Given the description of an element on the screen output the (x, y) to click on. 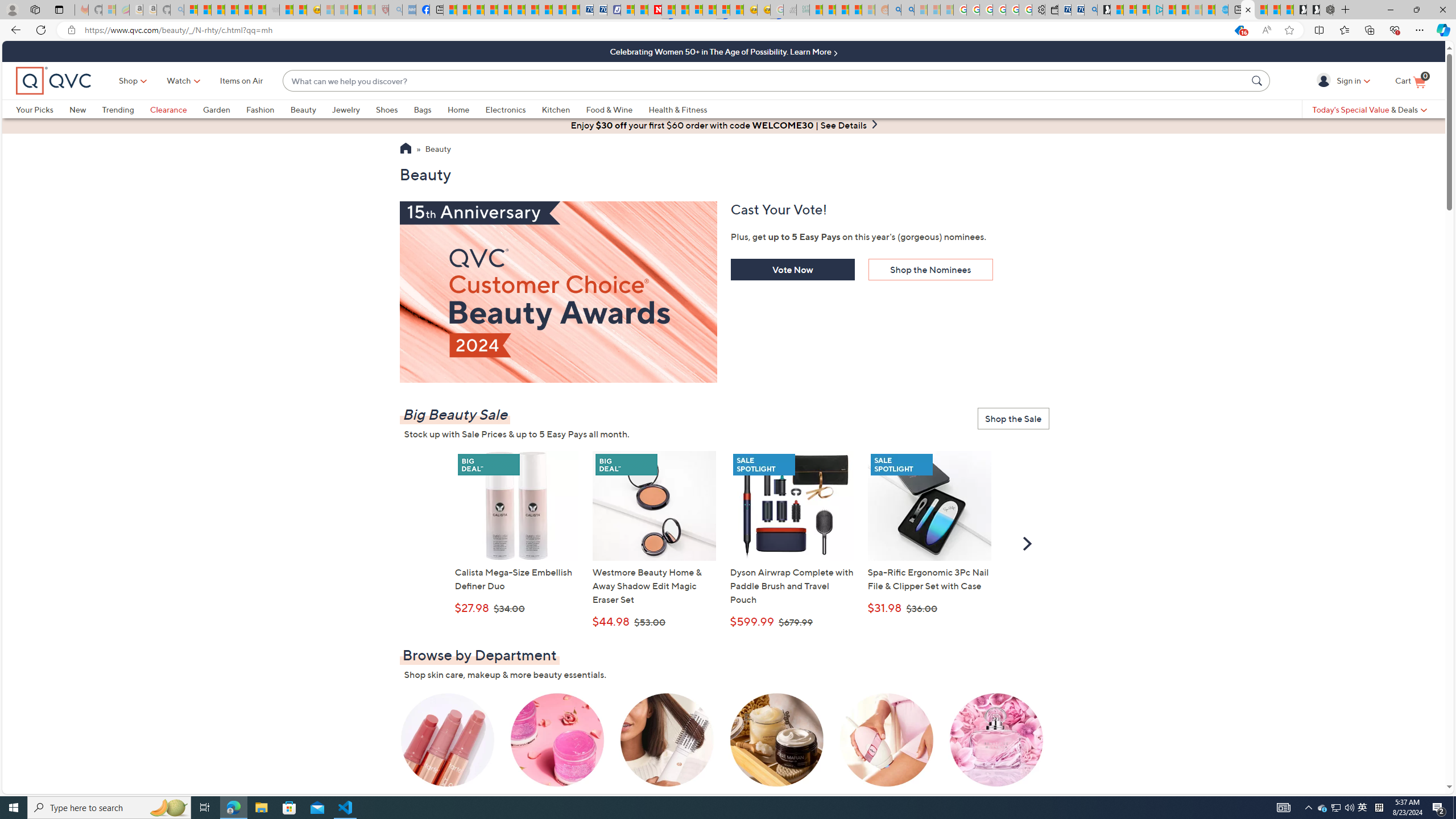
QVC home (53, 80)
Search Submit (1258, 80)
Microsoft account | Privacy (1142, 9)
Jewelry (345, 109)
MSNBC - MSN (816, 9)
Fashion (260, 109)
